Given the description of an element on the screen output the (x, y) to click on. 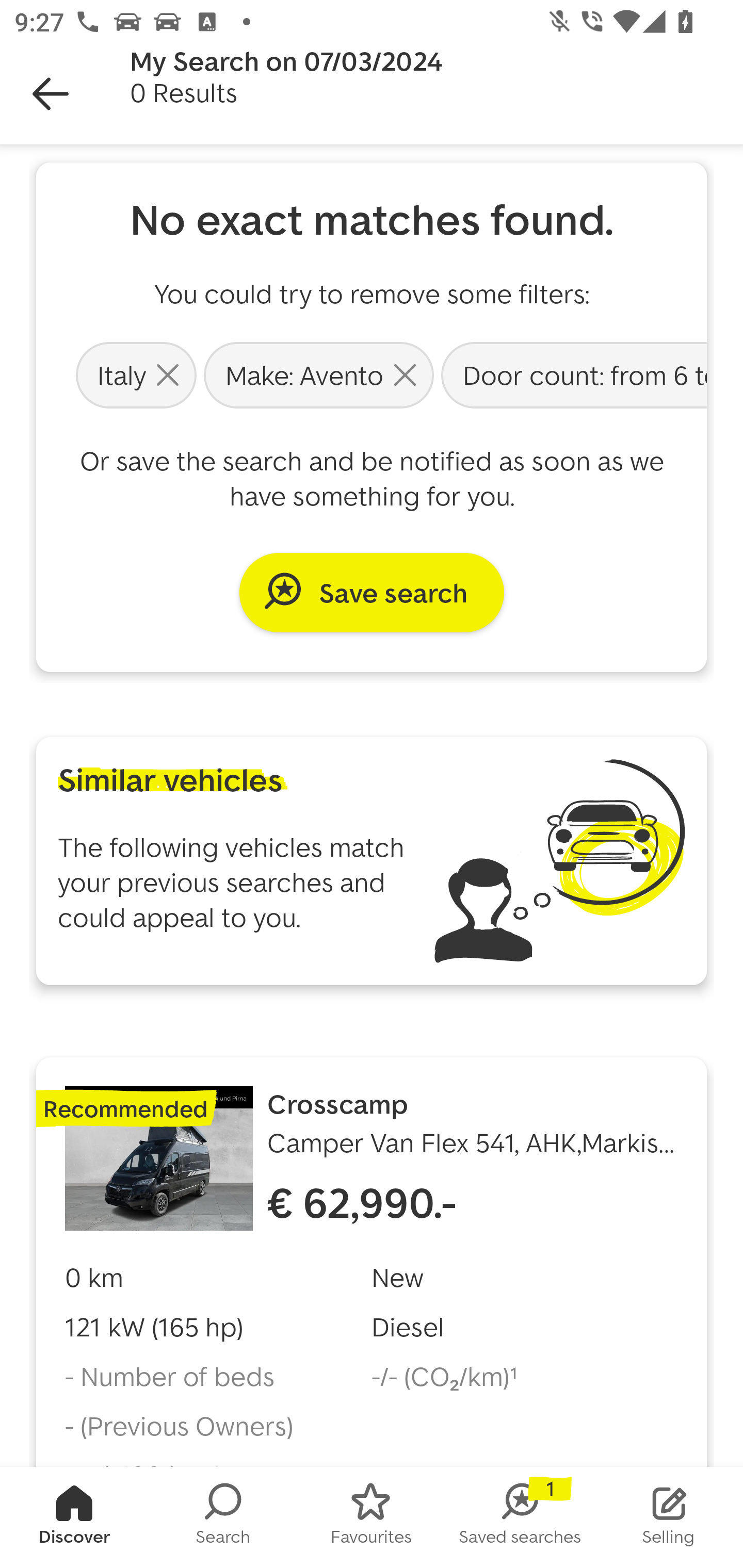
Navigate up (50, 93)
Italy (135, 374)
Make: Avento (318, 374)
Door count: from 6 to 7 (571, 374)
Save search (371, 592)
HOMESCREEN Discover (74, 1517)
SEARCH Search (222, 1517)
FAVORITES Favourites (371, 1517)
SAVED_SEARCHES Saved searches 1 (519, 1517)
STOCK_LIST Selling (668, 1517)
